Given the description of an element on the screen output the (x, y) to click on. 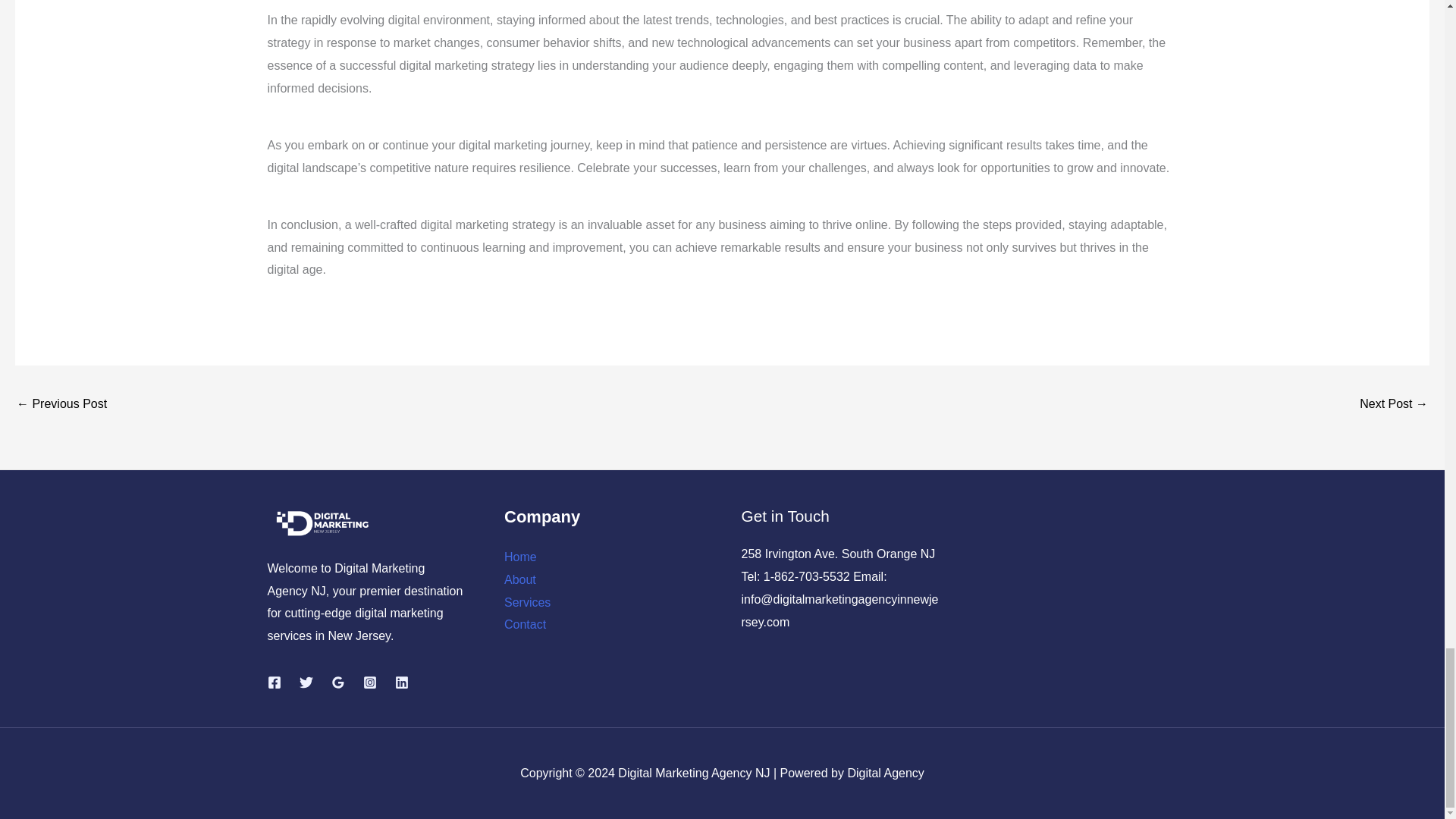
Home (520, 556)
Services (526, 602)
8 Essential Digital Marketing Tips for Small Businesses (61, 405)
Contact (524, 624)
About (519, 579)
